Given the description of an element on the screen output the (x, y) to click on. 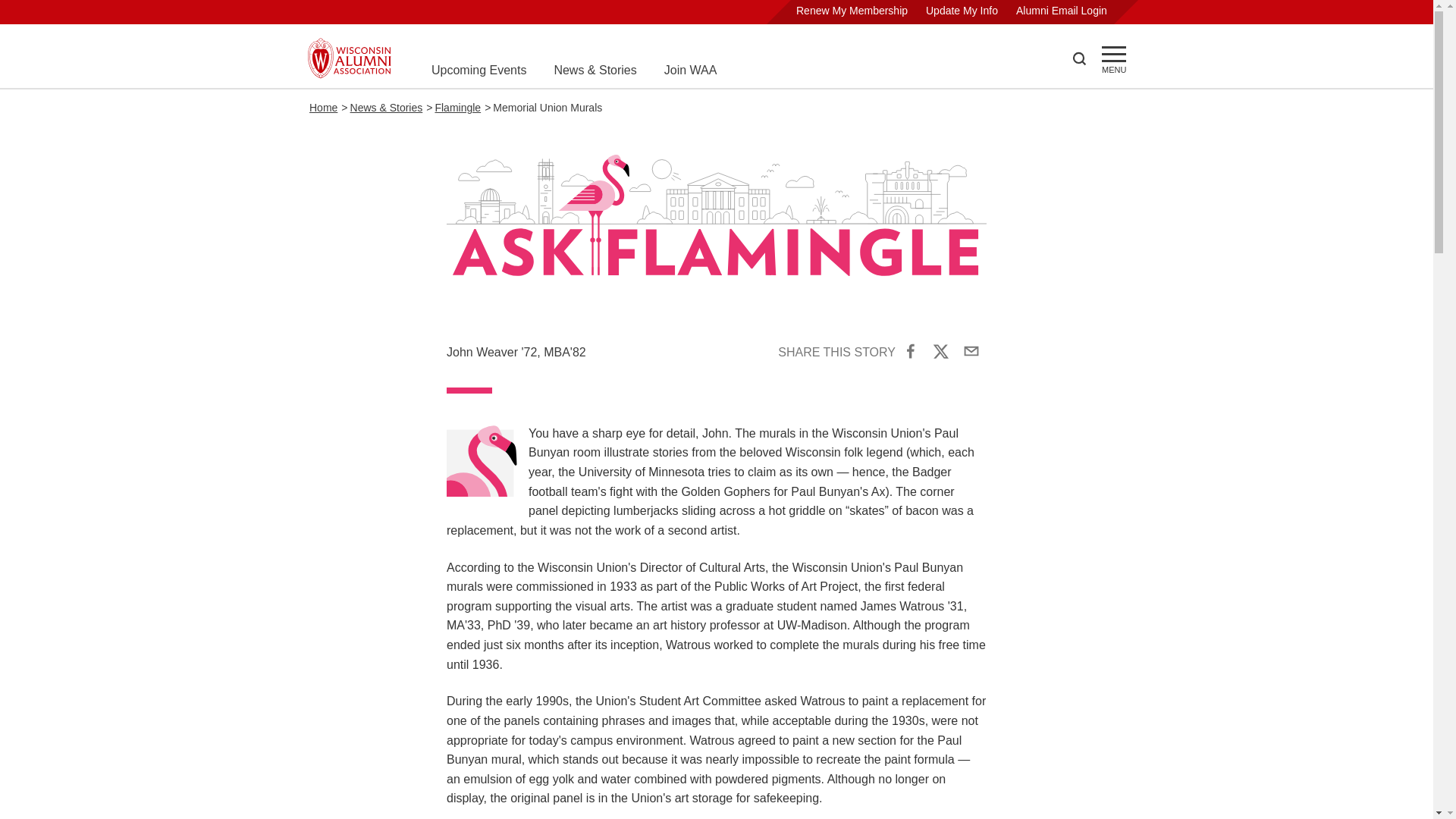
Alumni Email Login (1061, 10)
Flamingle (456, 107)
Update My Info (961, 10)
Renew My Membership (851, 10)
Upcoming Events (477, 70)
Home (322, 107)
Join WAA (690, 70)
